Given the description of an element on the screen output the (x, y) to click on. 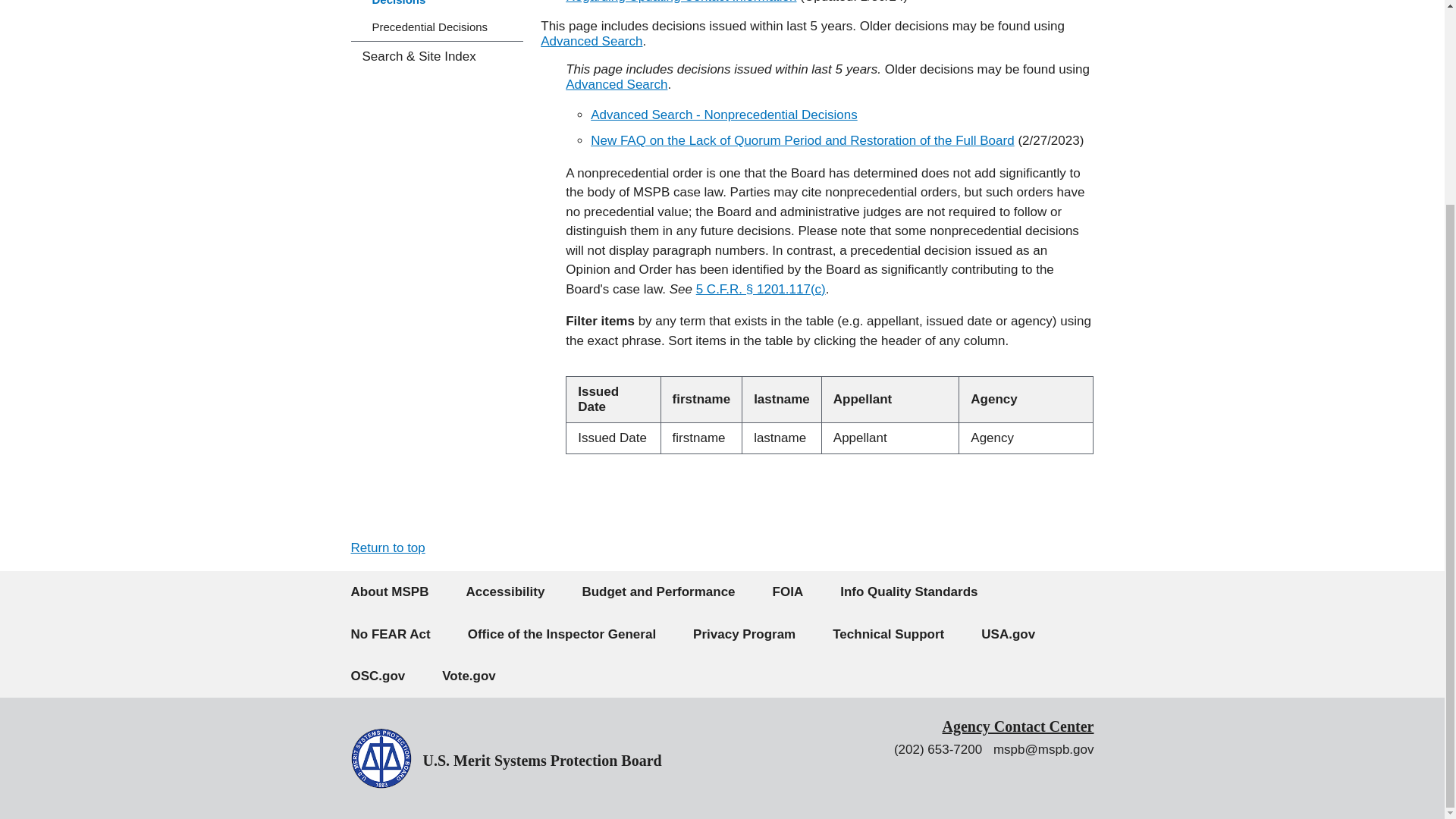
Search Nonprecedential Decisions (724, 114)
Advanced Search (591, 41)
Search Decisions (616, 83)
